Given the description of an element on the screen output the (x, y) to click on. 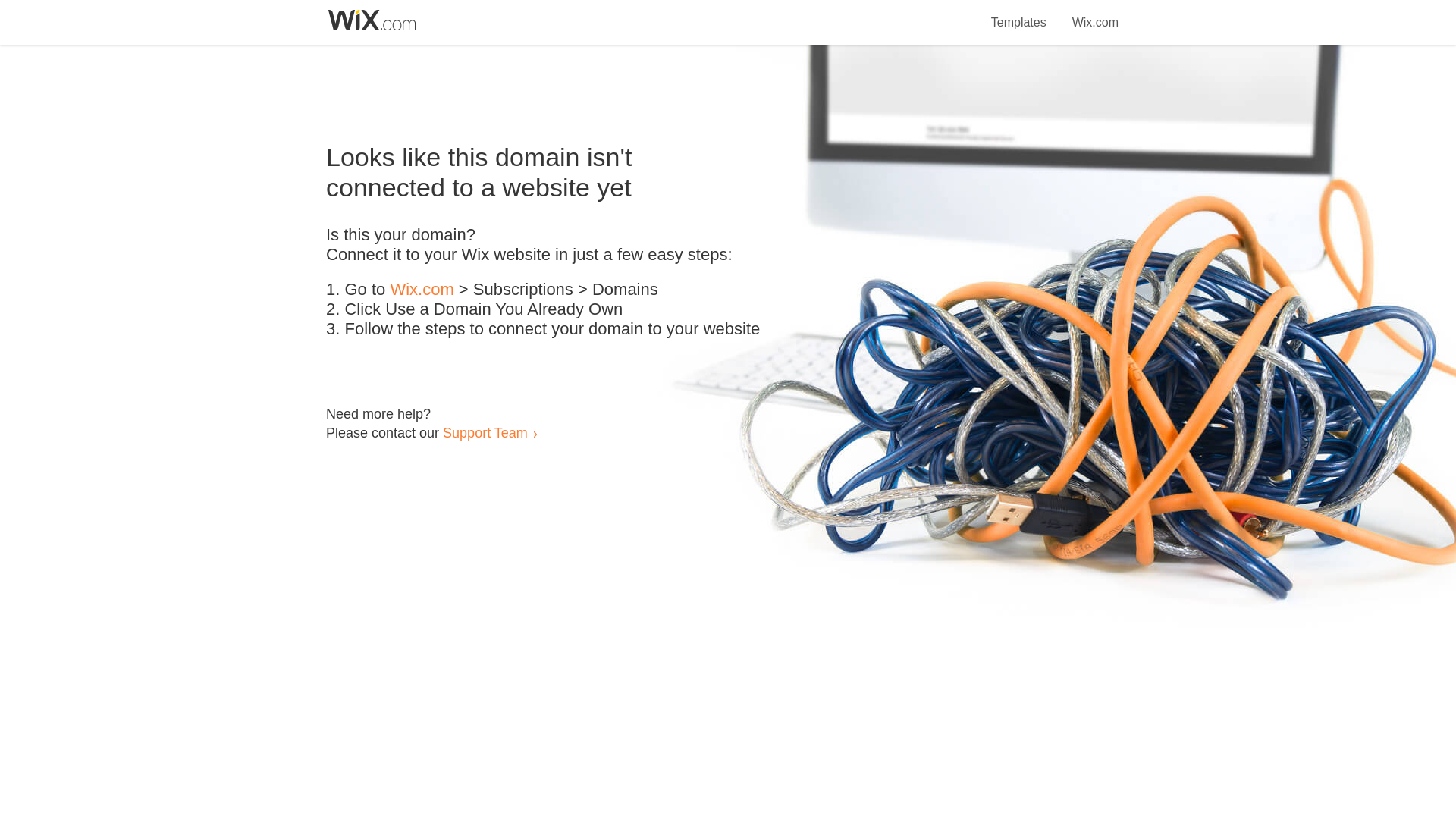
Wix.com (1095, 14)
Templates (1018, 14)
Support Team (484, 432)
Wix.com (421, 289)
